Given the description of an element on the screen output the (x, y) to click on. 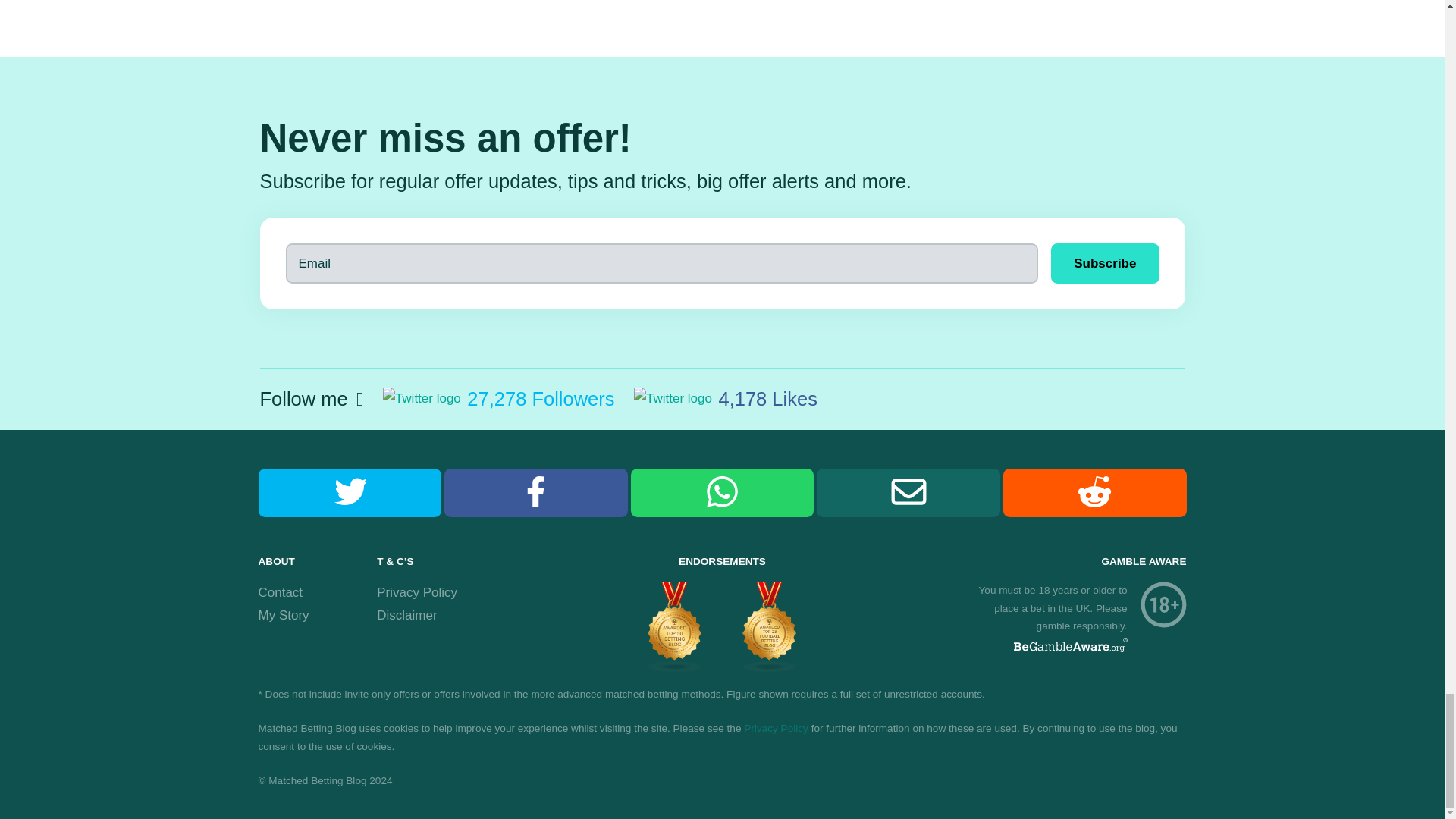
Subscribe (1104, 263)
